Given the description of an element on the screen output the (x, y) to click on. 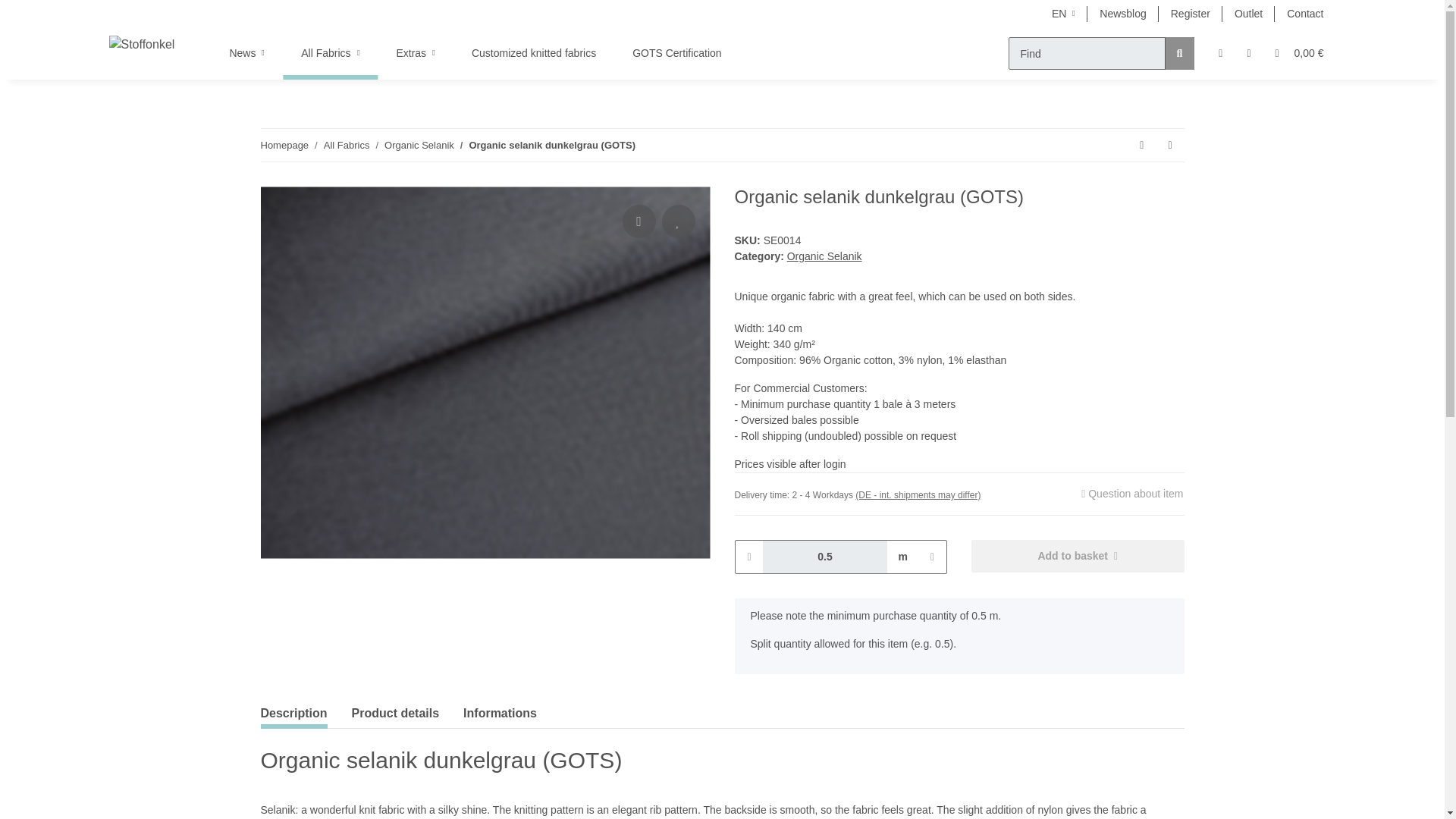
GOTS Certification (676, 53)
All Fabrics (329, 53)
Extras (414, 53)
Customized knitted fabrics (533, 53)
Contact-Form (1305, 13)
All Fabrics (329, 53)
Register (1190, 13)
EN (1063, 13)
Newsblog (1122, 13)
